Given the description of an element on the screen output the (x, y) to click on. 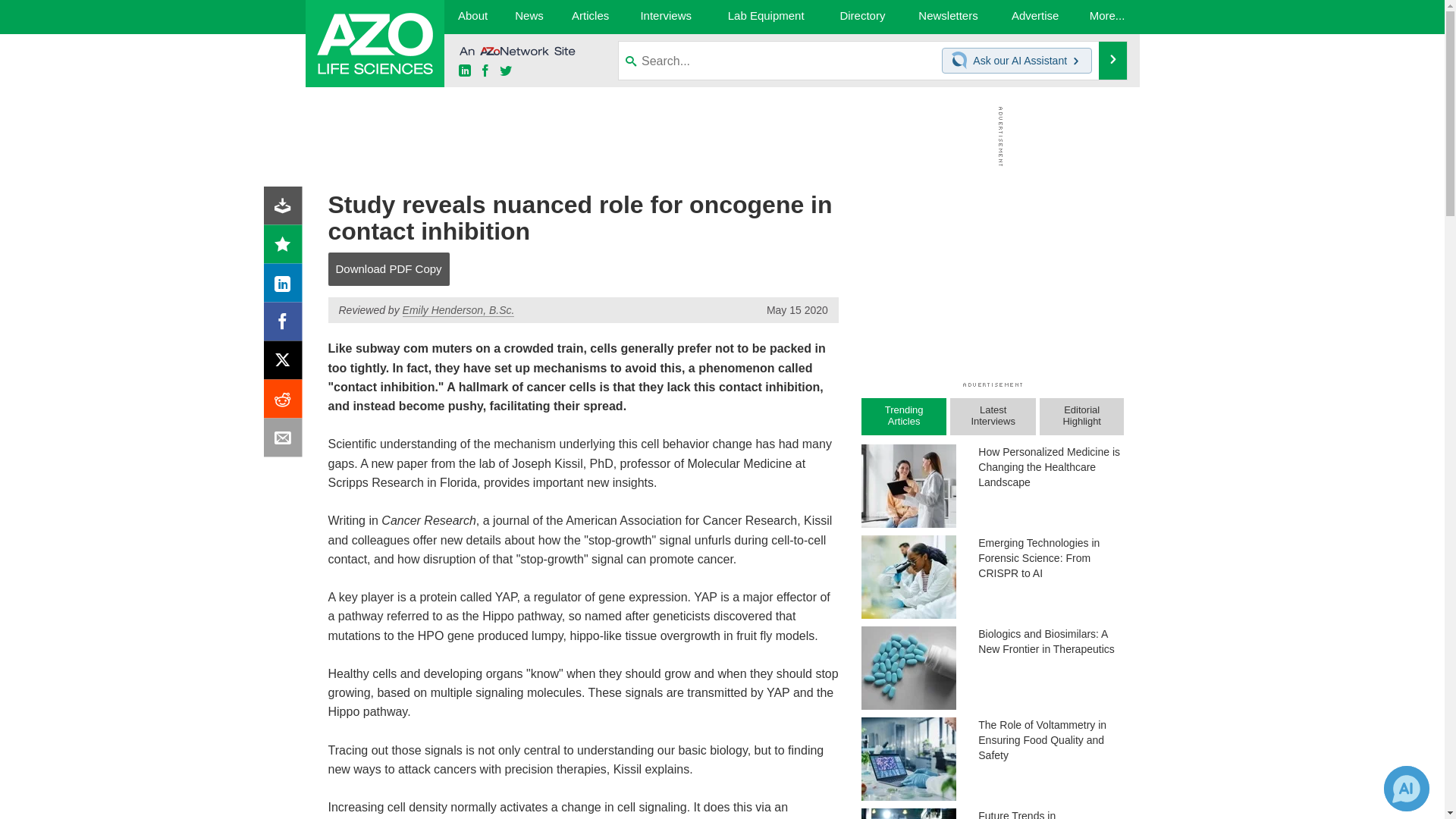
Reddit (285, 402)
More... (1107, 17)
Rating (285, 247)
Advertise (1035, 17)
LinkedIn (285, 286)
Interviews (665, 17)
Lab Equipment (765, 17)
Email (285, 441)
Articles (590, 17)
